Given the description of an element on the screen output the (x, y) to click on. 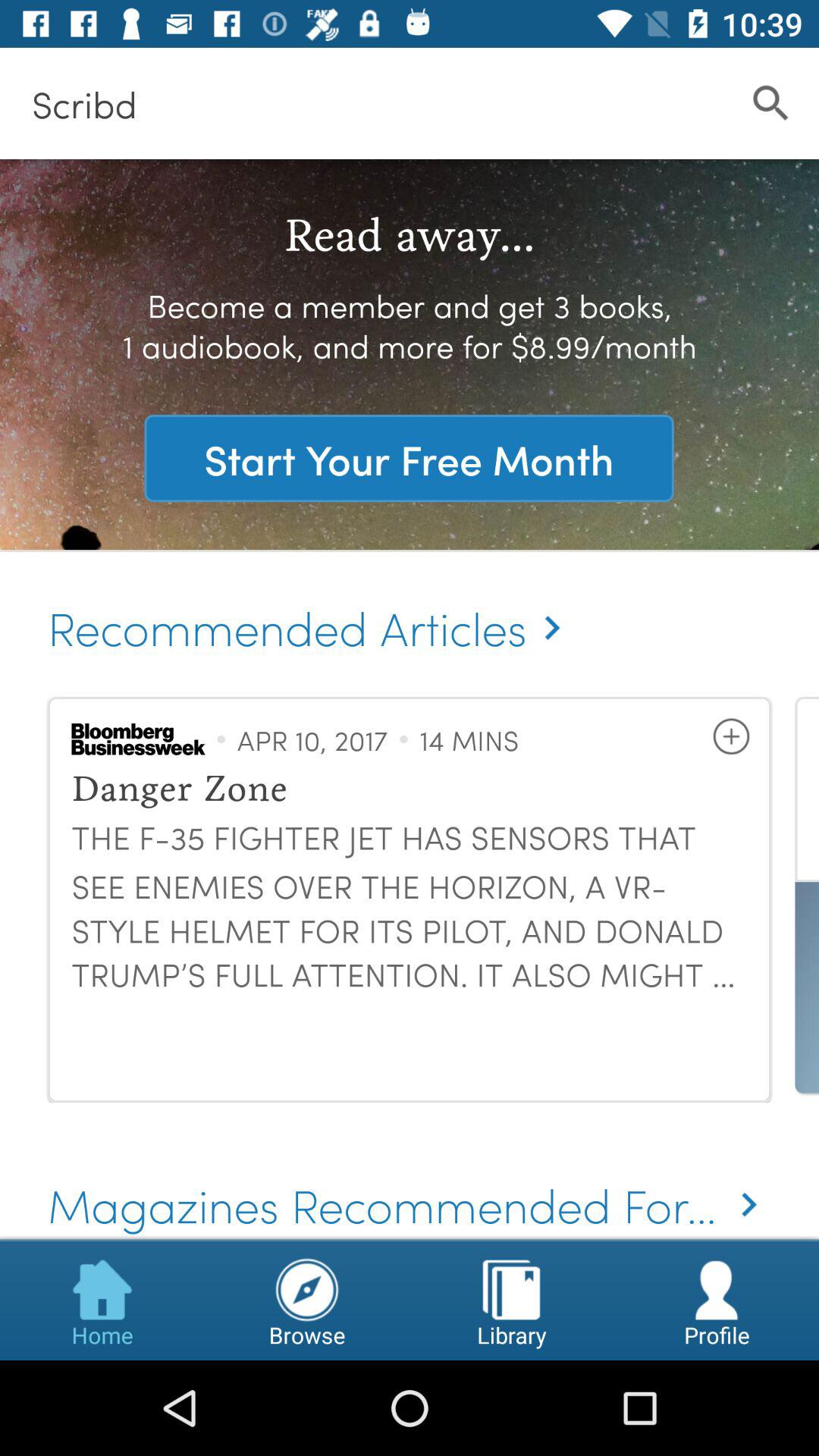
click icon above the apr 10, 2017 (311, 610)
